Given the description of an element on the screen output the (x, y) to click on. 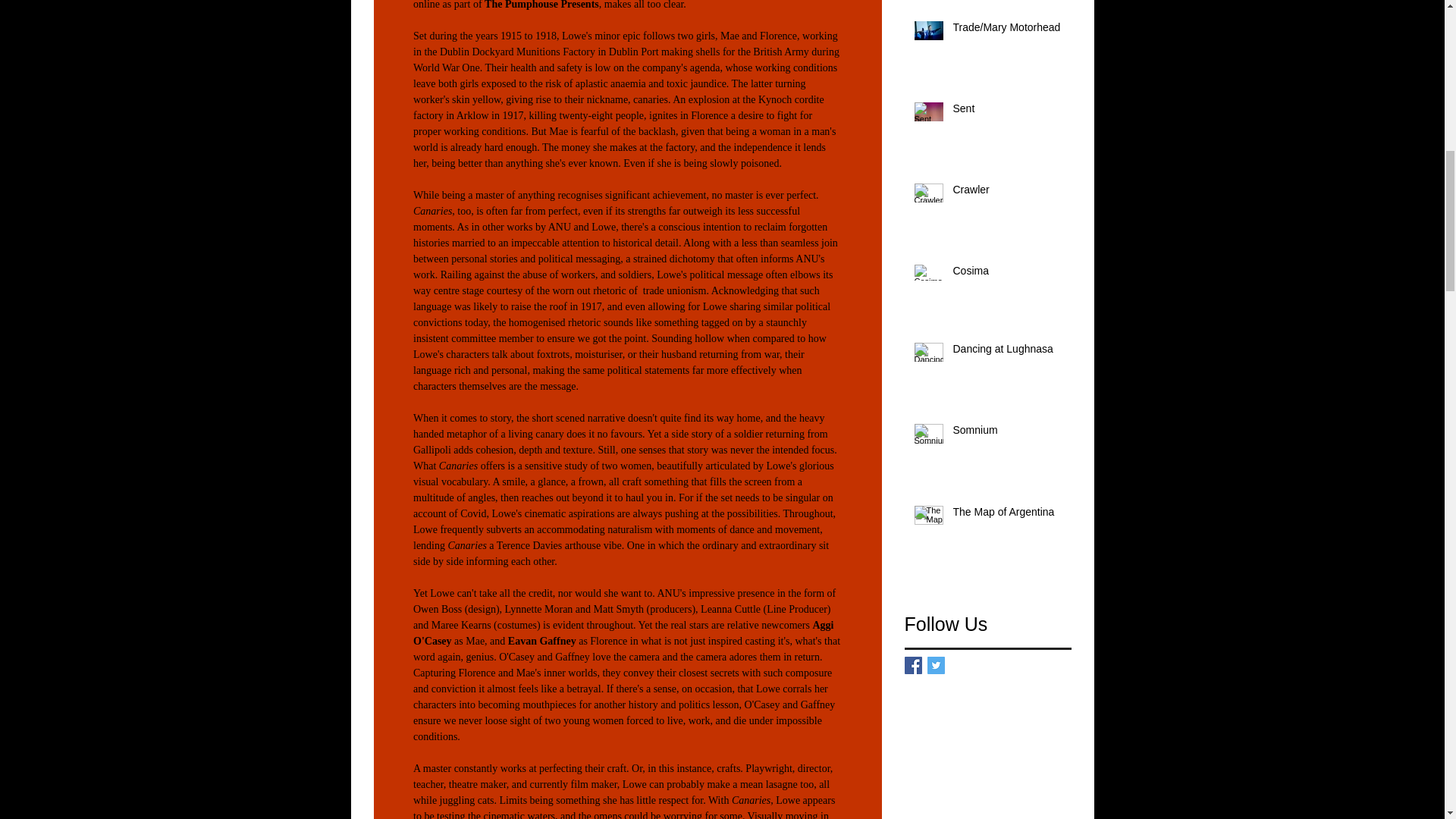
Crawler (1006, 192)
Dancing at Lughnasa (1006, 352)
Sent (1006, 111)
The Map of Argentina (1006, 515)
Somnium (1006, 433)
Cosima (1006, 274)
